Given the description of an element on the screen output the (x, y) to click on. 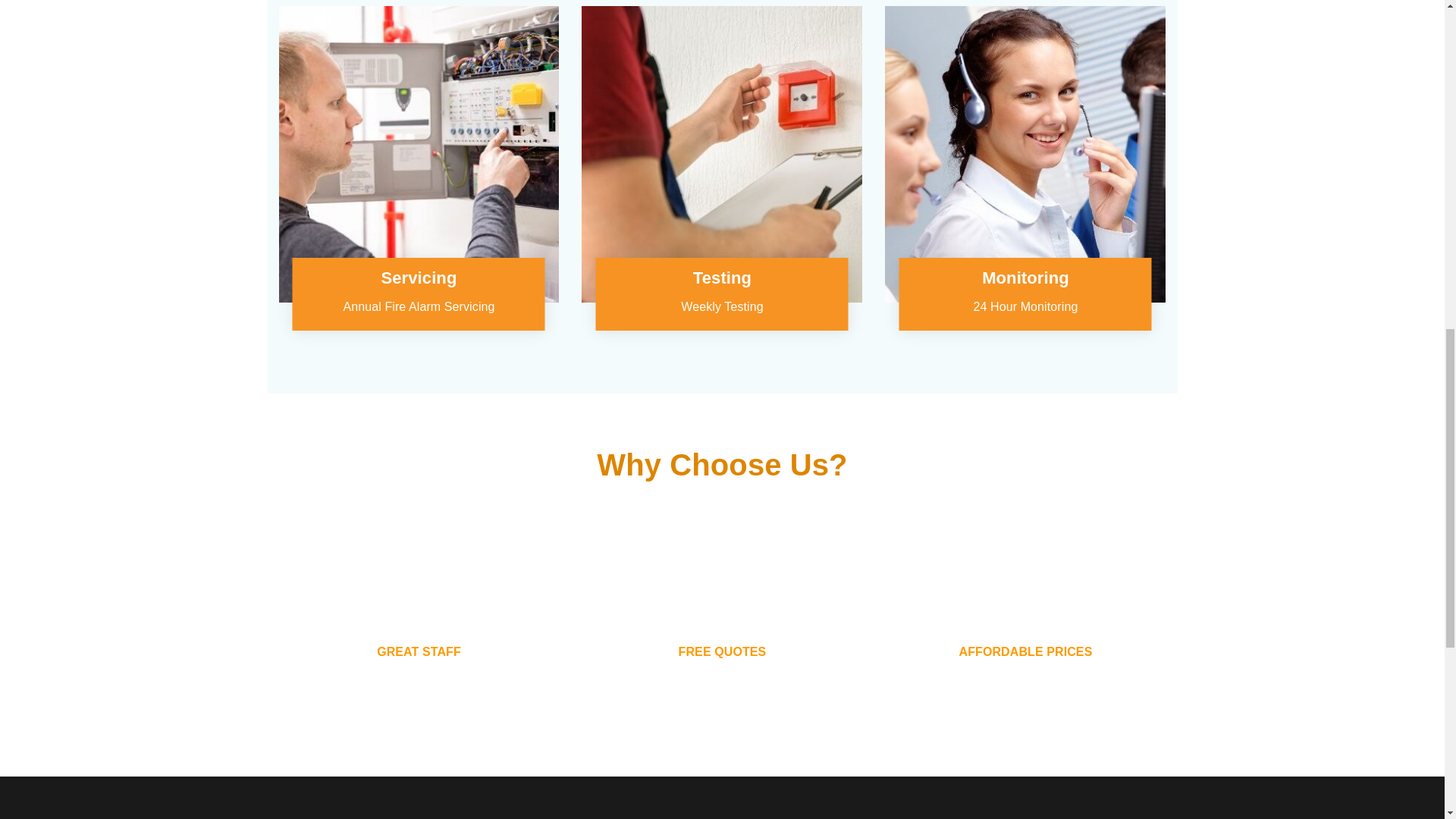
Enquire Now (1083, 170)
Enquire Now (780, 170)
Enquire Now (476, 170)
